Given the description of an element on the screen output the (x, y) to click on. 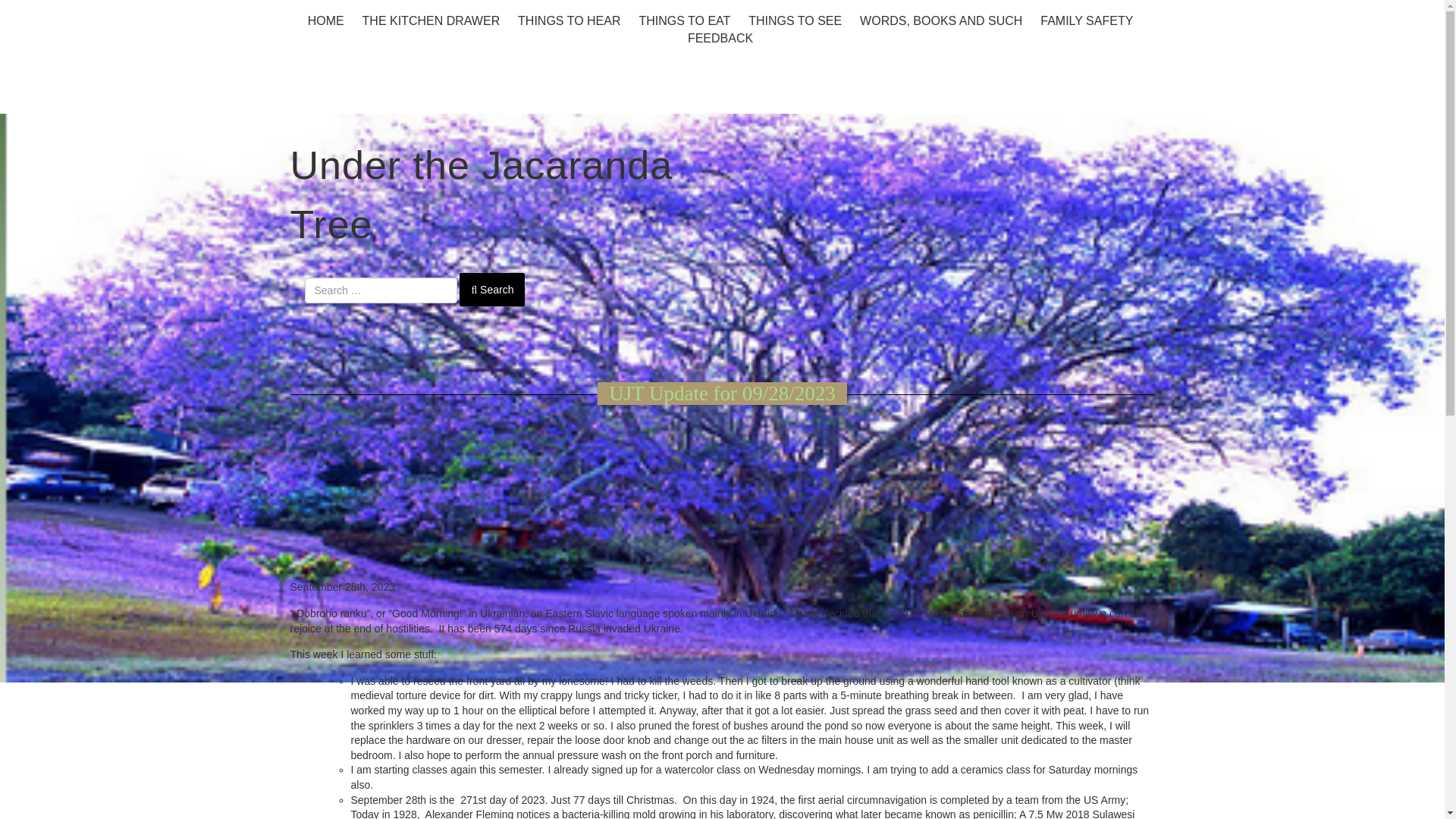
FEEDBACK (720, 38)
THINGS TO HEAR (568, 20)
THE KITCHEN DRAWER (430, 20)
THINGS TO SEE (794, 20)
THINGS TO EAT (683, 20)
FAMILY SAFETY (1086, 20)
Under the Jacaranda Tree (480, 194)
 Search (492, 289)
HOME (325, 20)
WORDS, BOOKS AND SUCH (941, 20)
